Given the description of an element on the screen output the (x, y) to click on. 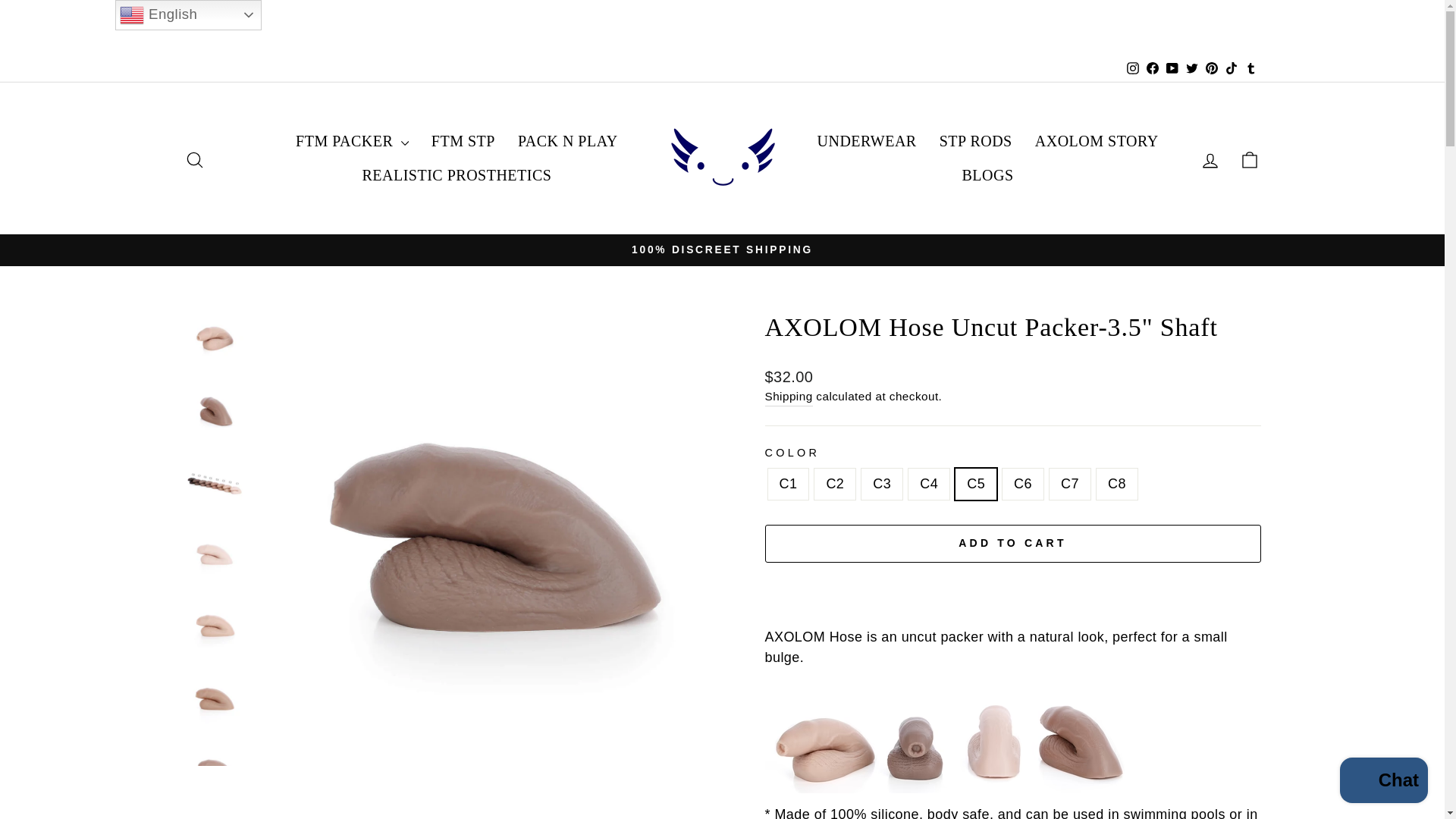
ACCOUNT (1210, 160)
instagram (194, 158)
C1 (1132, 68)
C4 (194, 159)
